Given the description of an element on the screen output the (x, y) to click on. 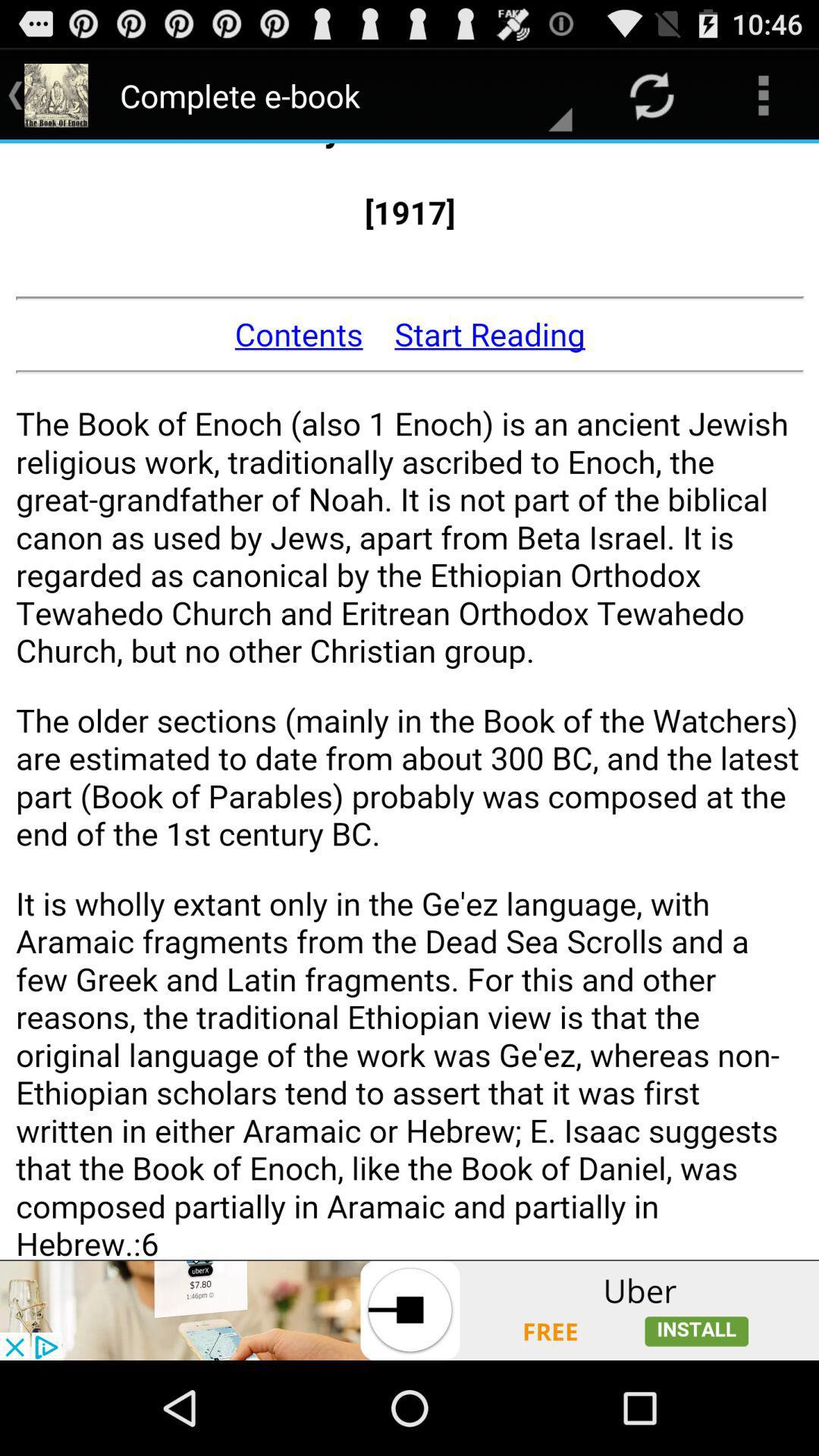
open uber advertisement (409, 1310)
